Given the description of an element on the screen output the (x, y) to click on. 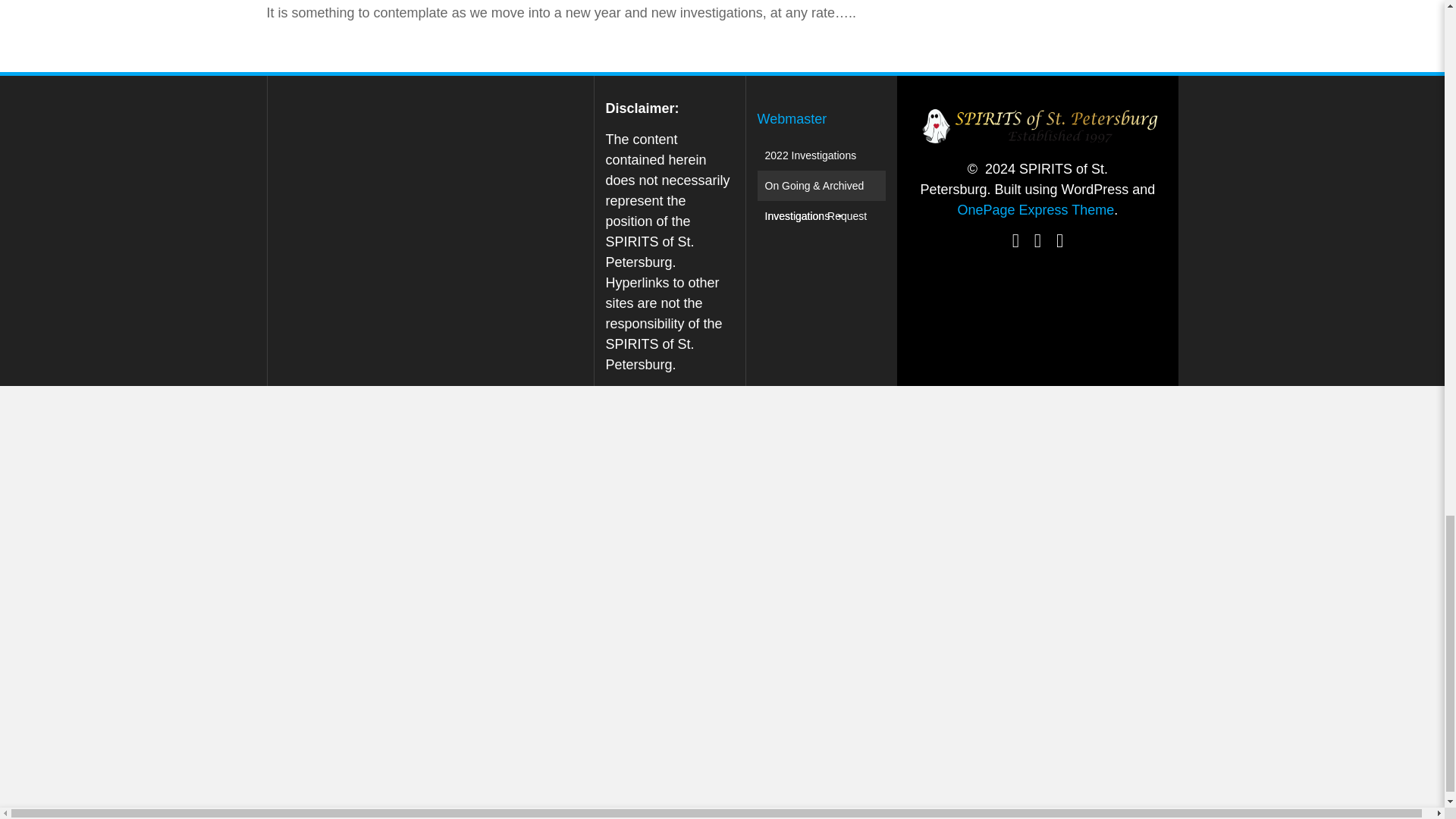
OnePage Express Theme (1034, 209)
Webmaster (792, 118)
2022 Investigations (810, 155)
Investigation Request (816, 215)
